Given the description of an element on the screen output the (x, y) to click on. 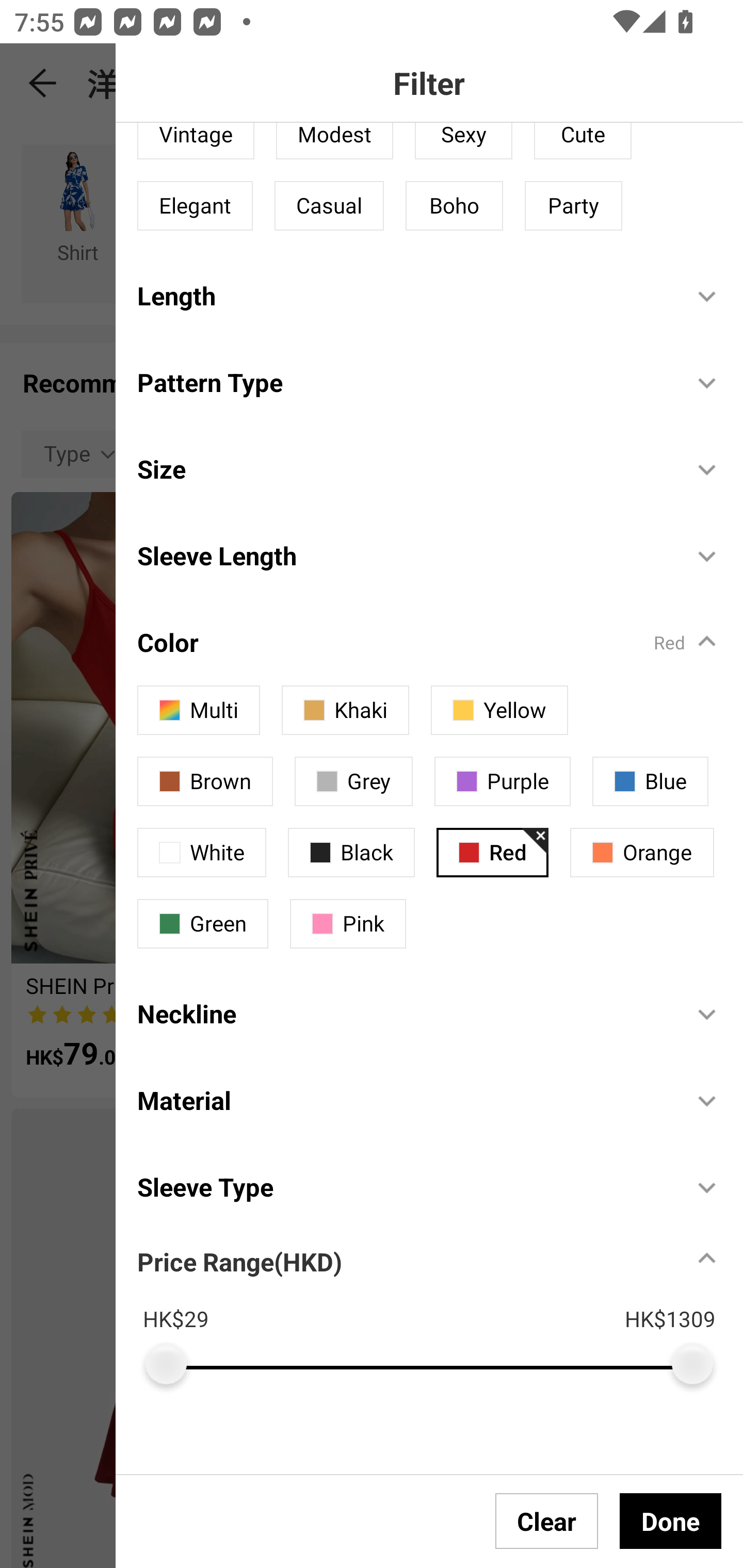
Vintage (195, 140)
Modest (334, 140)
Sexy (463, 140)
Cute (582, 140)
Elegant (194, 205)
Casual (329, 205)
Boho (454, 205)
Party (573, 205)
Length (403, 295)
Pattern Type (403, 382)
Size (403, 468)
Sleeve Length (403, 555)
Color (403, 641)
Multi (198, 710)
Khaki (345, 710)
Yellow (499, 710)
Brown (204, 781)
Grey (353, 781)
Purple (502, 781)
Blue (650, 781)
White (201, 852)
Black (351, 852)
Red (492, 852)
Orange (641, 852)
Green (202, 923)
Pink (347, 923)
Neckline (403, 1013)
Material (403, 1099)
Sleeve Type (403, 1186)
Price Range(HKD) (239, 1260)
Clear (546, 1520)
Done (670, 1520)
